Given the description of an element on the screen output the (x, y) to click on. 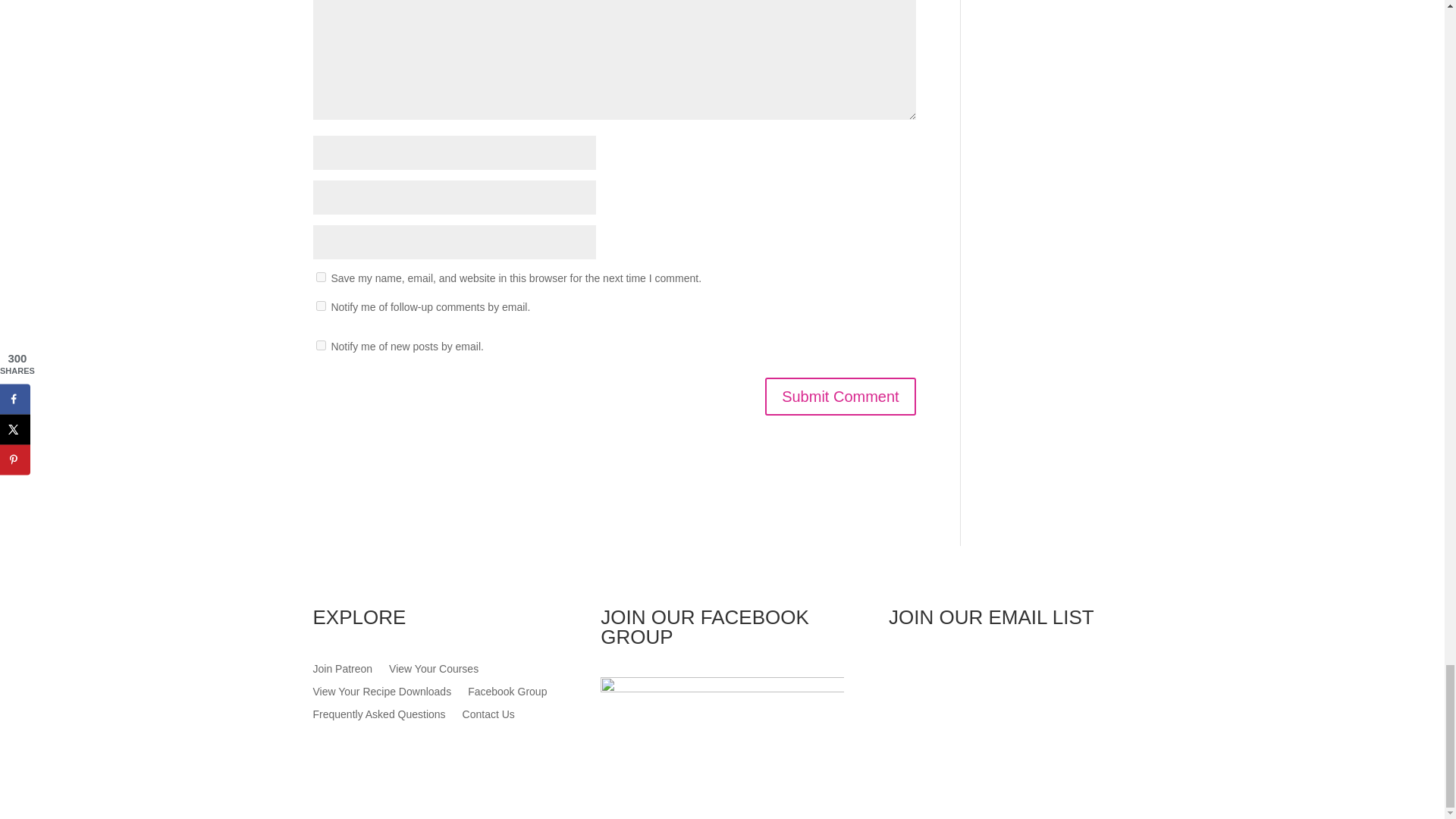
Submit Comment (840, 396)
yes (319, 276)
subscribe (319, 345)
subscribe (319, 306)
join-our-facebook-group-400x133 (721, 717)
